Given the description of an element on the screen output the (x, y) to click on. 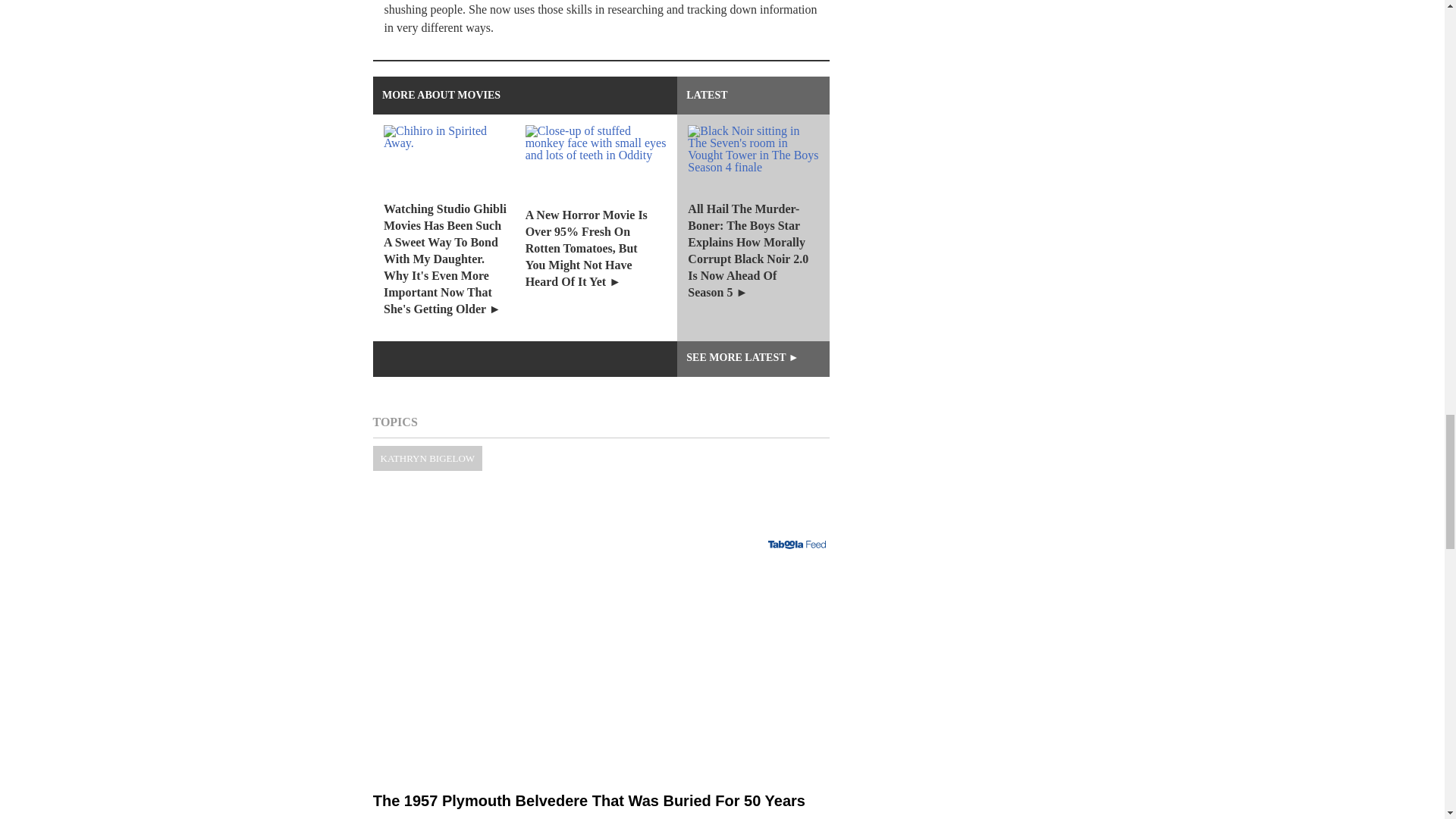
The 1957 Plymouth Belvedere That Was Buried For 50 Years (600, 660)
